Given the description of an element on the screen output the (x, y) to click on. 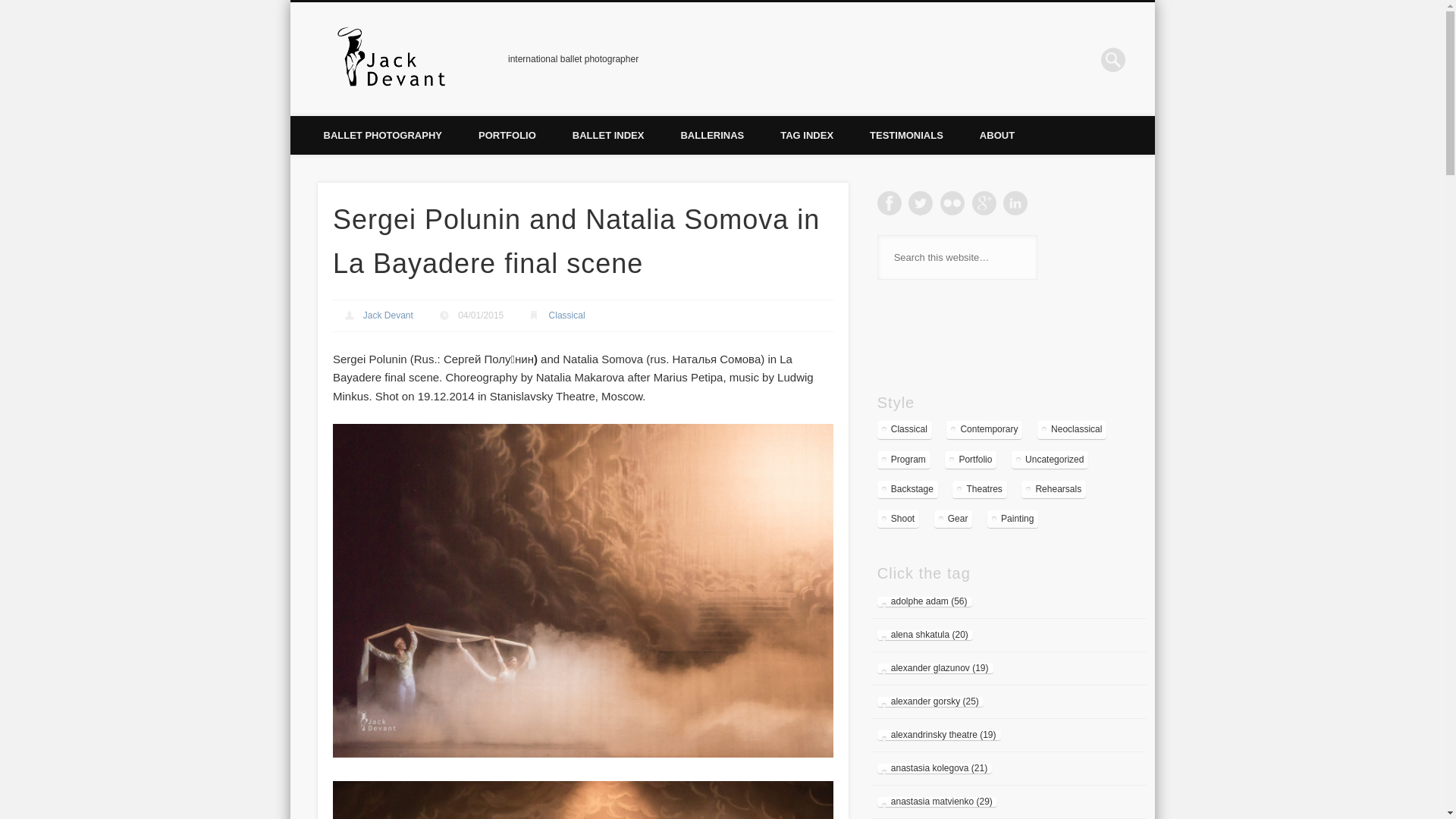
BALLERINAS (711, 135)
PORTFOLIO (507, 135)
TESTIMONIALS (905, 135)
ABOUT (996, 135)
Jack Devant (387, 315)
153 topics (903, 458)
391 topics (984, 429)
Jack Devant ballet photography (390, 59)
Search (11, 7)
Twitter (920, 202)
